Given the description of an element on the screen output the (x, y) to click on. 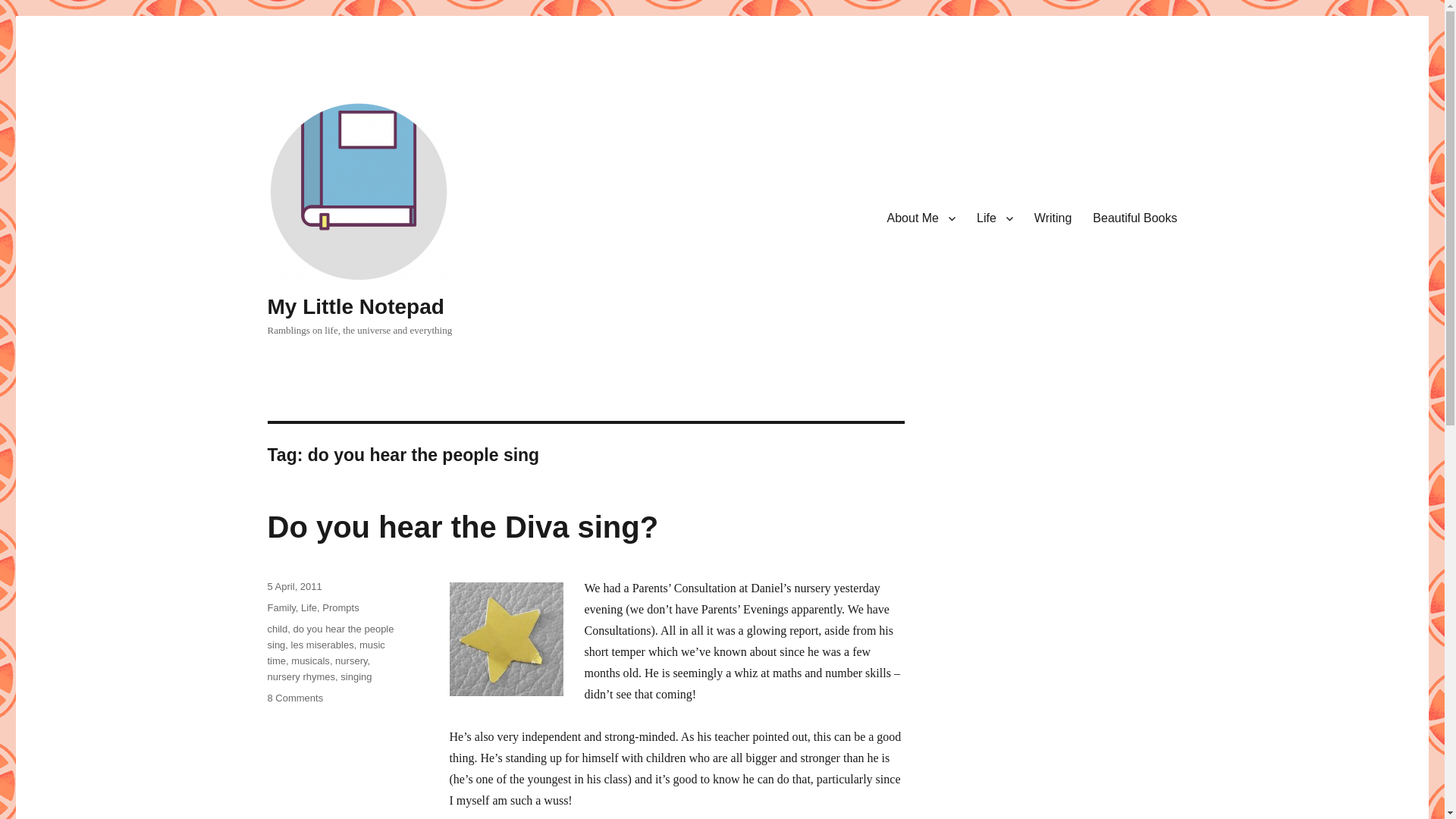
About Me (921, 218)
music time (325, 652)
Do you hear the Diva sing? (462, 526)
singing (355, 676)
les miserables (322, 644)
Beautiful Books (1134, 218)
nursery rhymes (300, 676)
child (294, 697)
musicals (276, 628)
do you hear the people sing (310, 660)
Family (329, 636)
Life (280, 607)
image (309, 607)
Writing (505, 639)
